Given the description of an element on the screen output the (x, y) to click on. 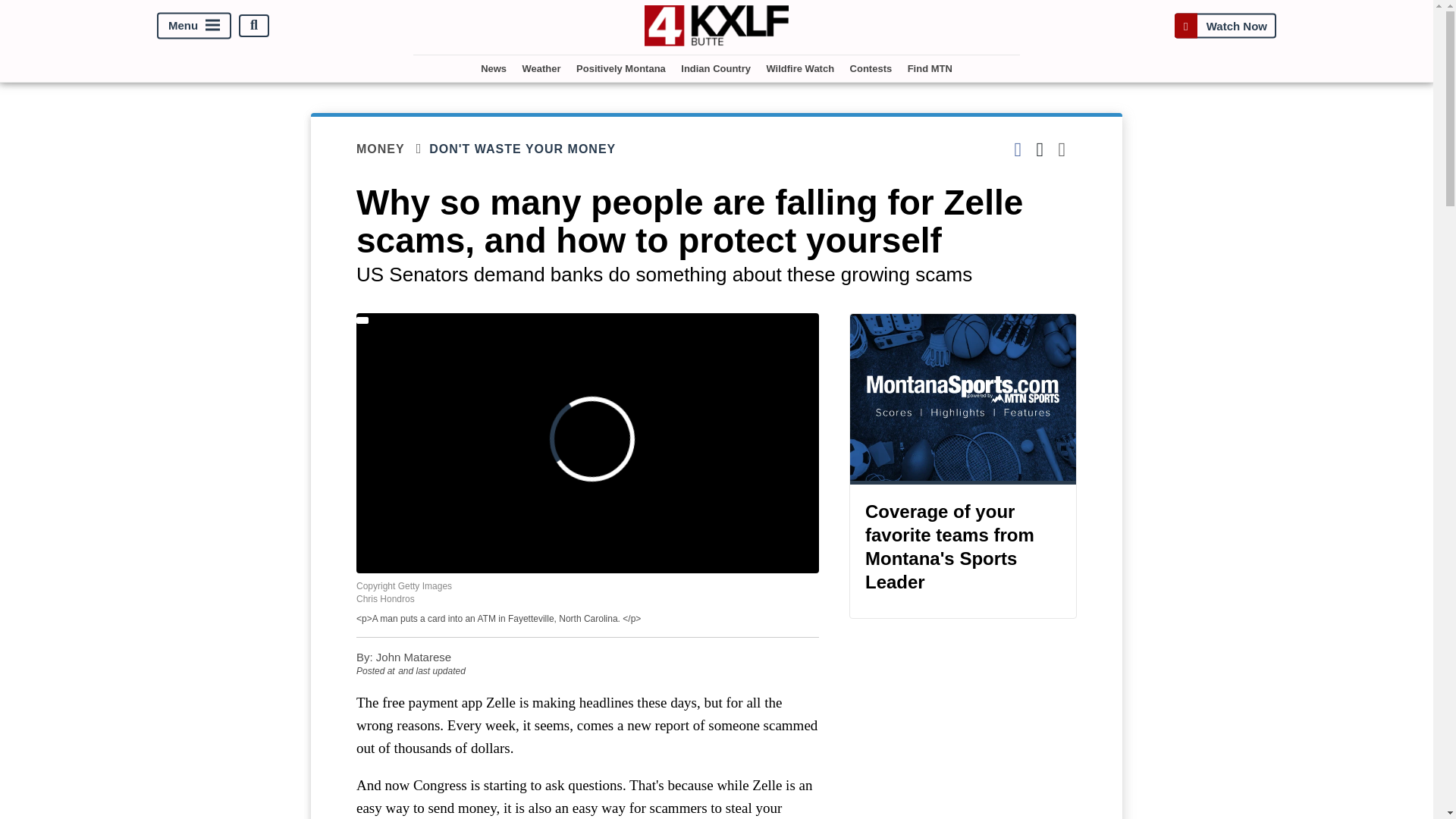
Watch Now (1224, 24)
Menu (194, 25)
